Given the description of an element on the screen output the (x, y) to click on. 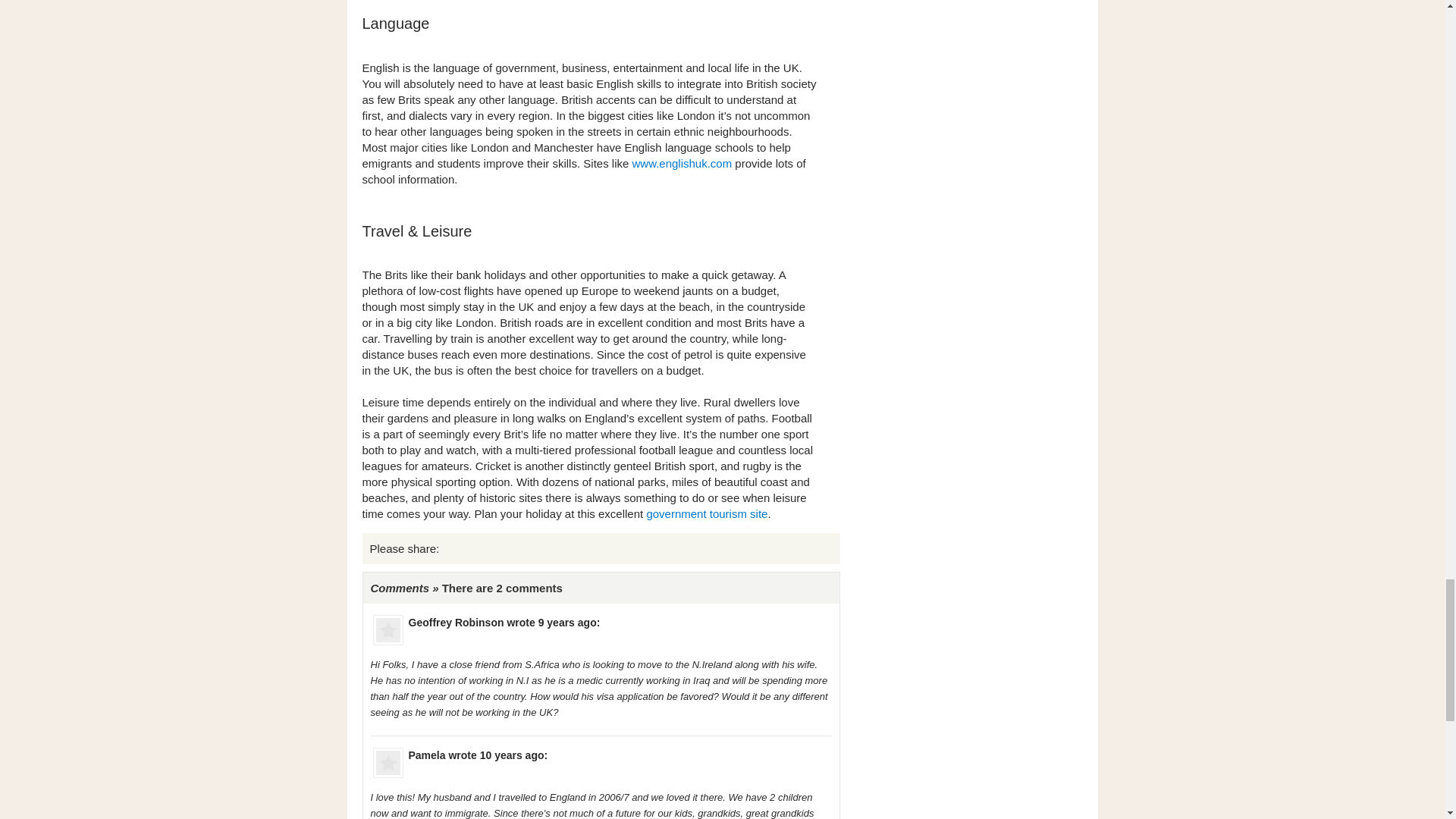
www.englishuk.com (681, 163)
government tourism site (706, 513)
